Given the description of an element on the screen output the (x, y) to click on. 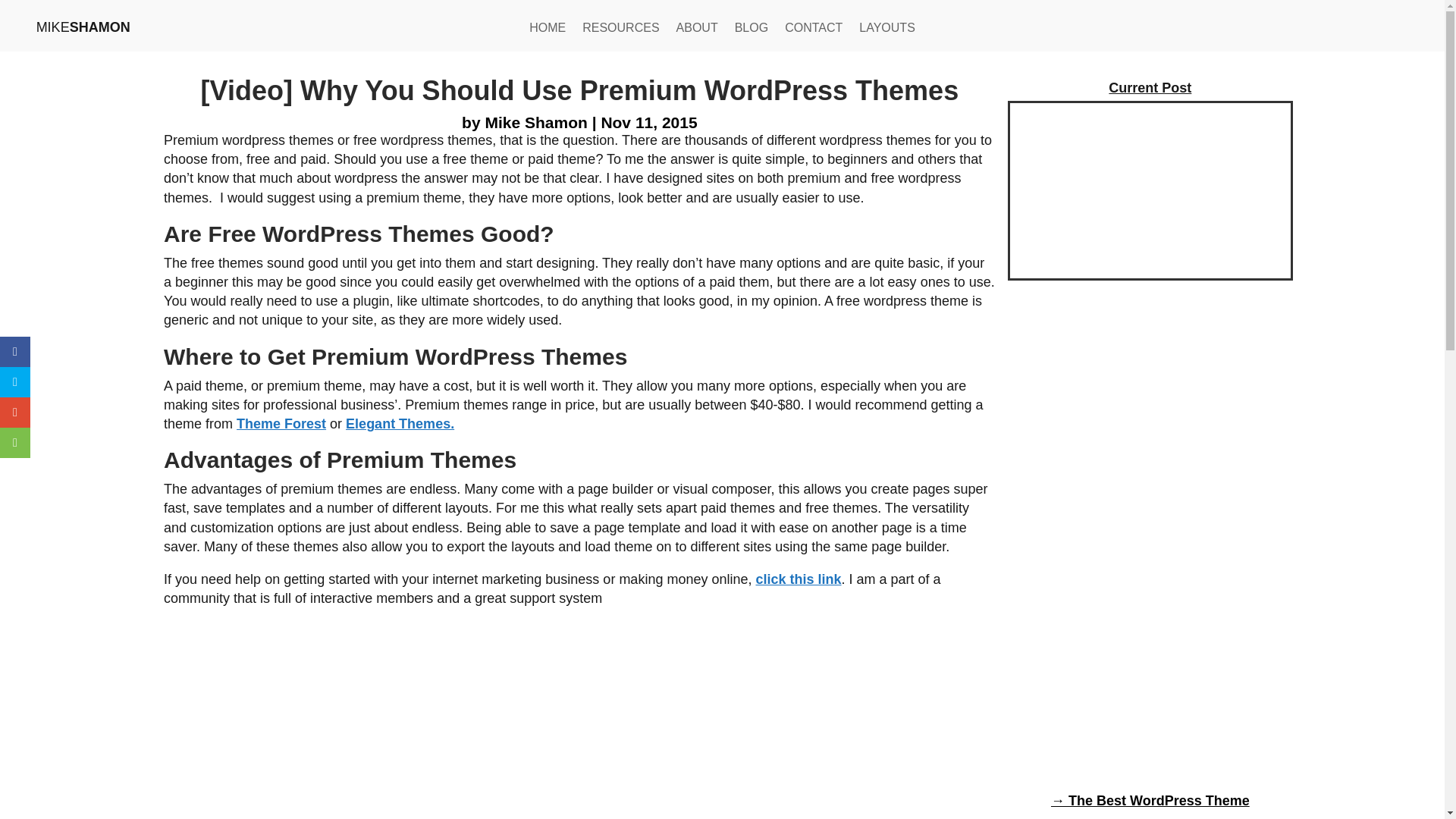
BLOG (751, 30)
Mike-Shamon-elegant-themes (1150, 190)
HOME (547, 30)
CONTACT (813, 30)
Posts by Mike Shamon (535, 122)
Elegant Themes. (400, 423)
ABOUT (697, 30)
LAYOUTS (887, 30)
click this link (798, 579)
RESOURCES (620, 30)
Theme Forest (280, 423)
Mike Shamon (535, 122)
